Given the description of an element on the screen output the (x, y) to click on. 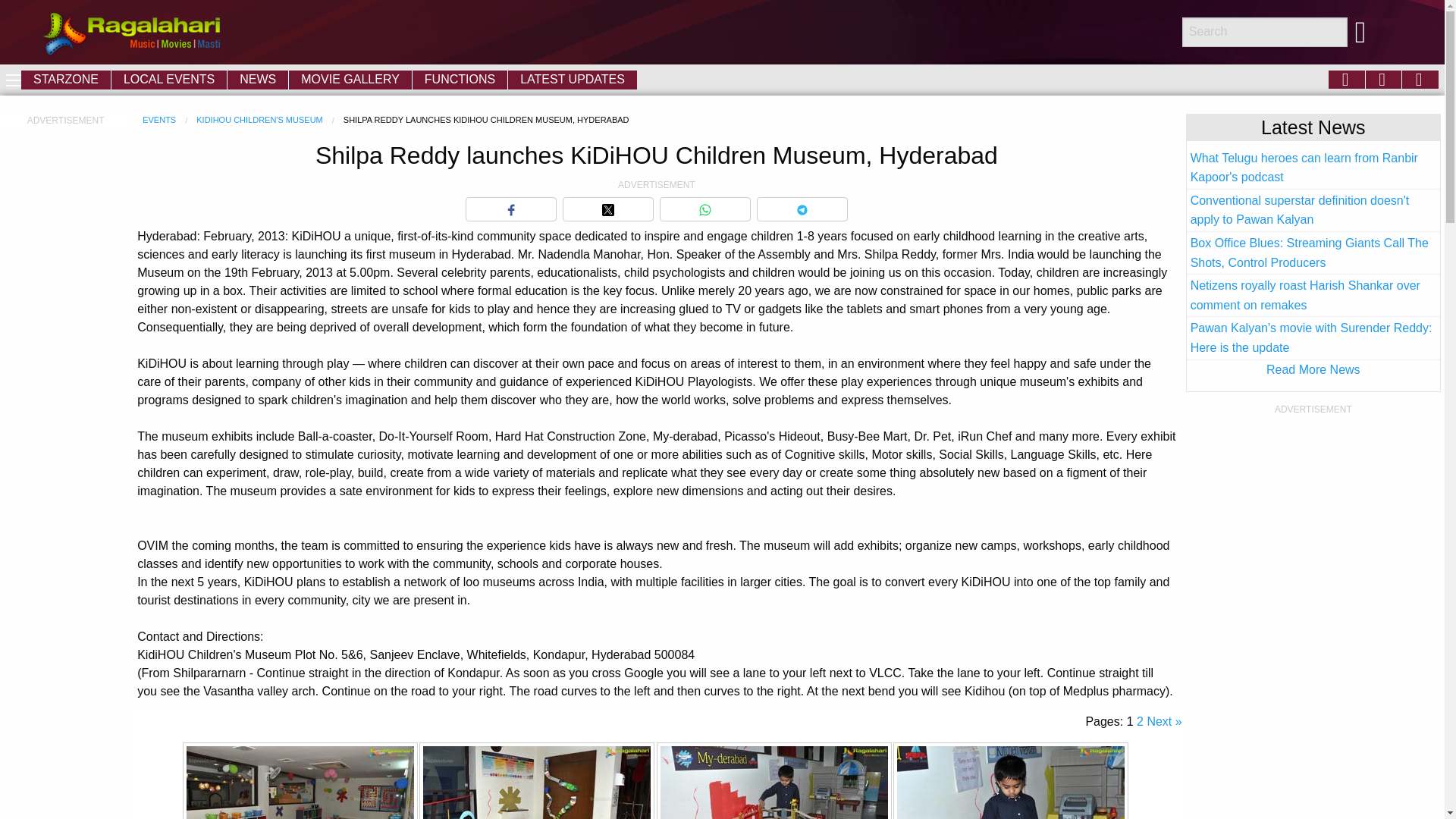
KiDiHOU Children Museum Launch, Hyderabad (299, 780)
LATEST UPDATES (572, 79)
STARZONE (65, 79)
LOCAL EVENTS (169, 79)
KiDiHOU Children Museum Launch, Hyderabad (774, 780)
MOVIE GALLERY (350, 79)
NEWS (257, 79)
FUNCTIONS (459, 79)
KiDiHOU Children Museum Launch, Hyderabad (536, 780)
KiDiHOU Children Museum Launch, Hyderabad (1009, 780)
